Given the description of an element on the screen output the (x, y) to click on. 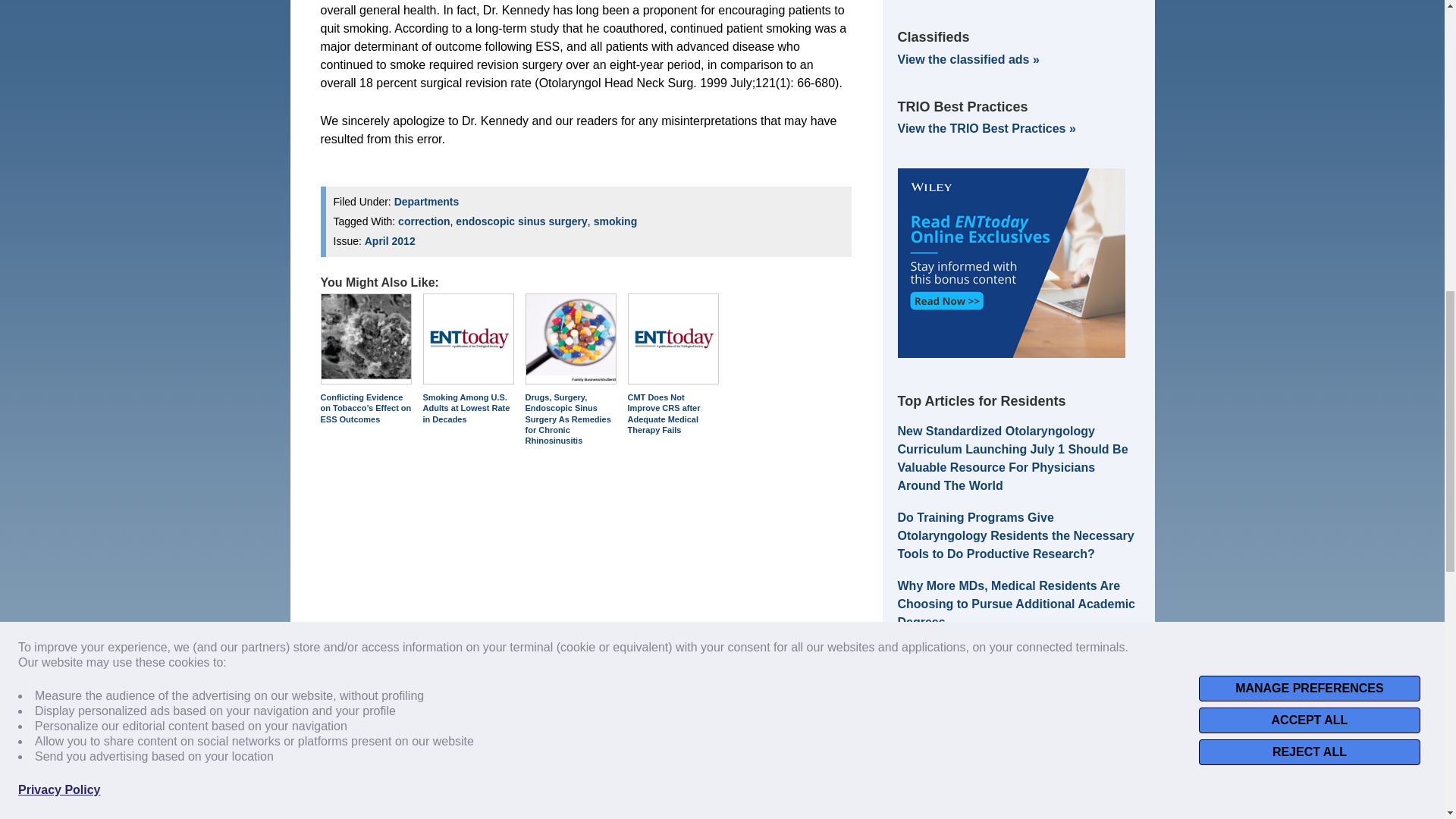
Smoking Among U.S. Adults at Lowest Rate in Decades (468, 338)
